Given the description of an element on the screen output the (x, y) to click on. 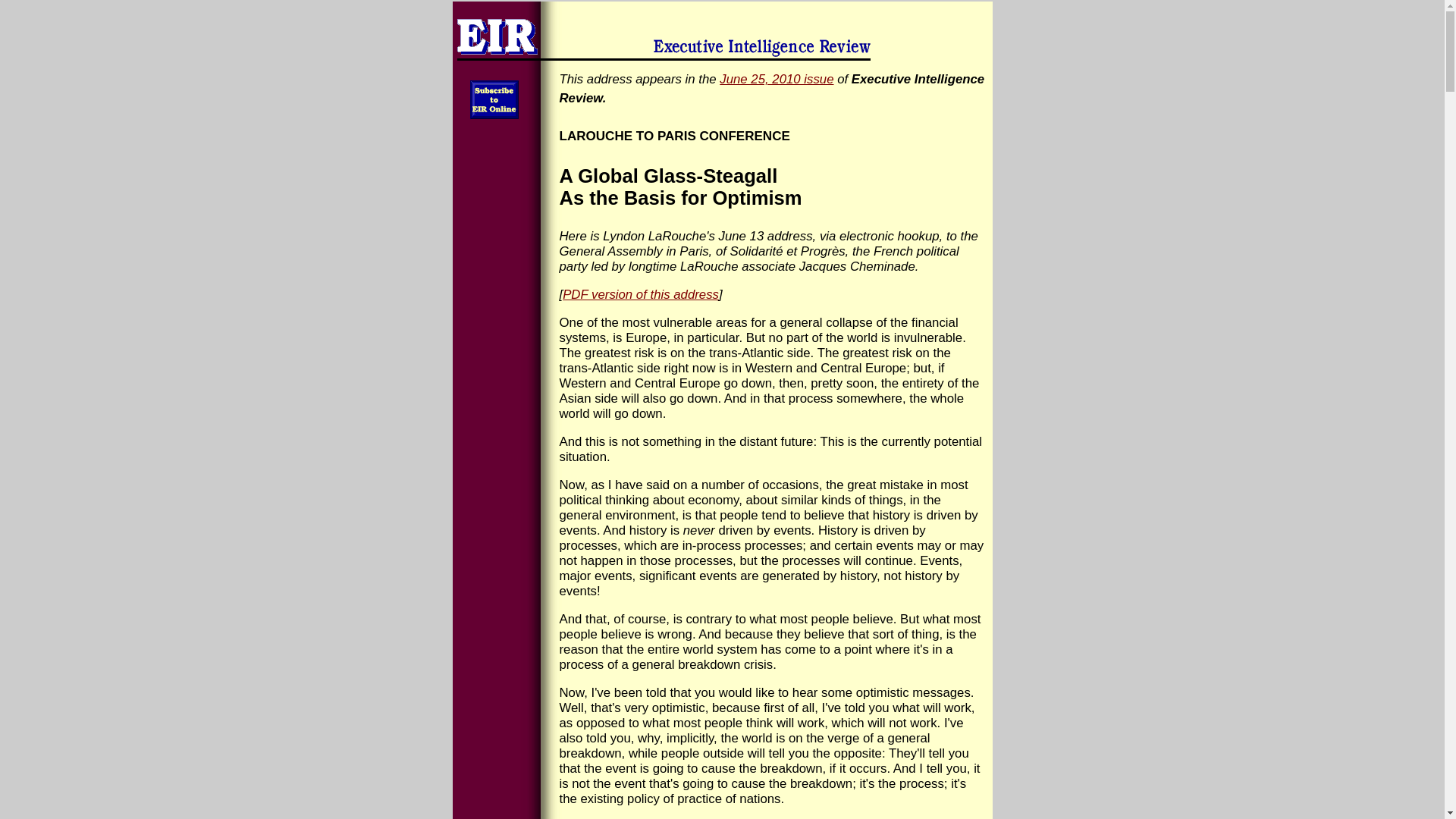
Subscribe to EIR Online (494, 99)
PDF version of this address (640, 294)
Back to home page (721, 33)
June 25, 2010 issue (775, 79)
